Given the description of an element on the screen output the (x, y) to click on. 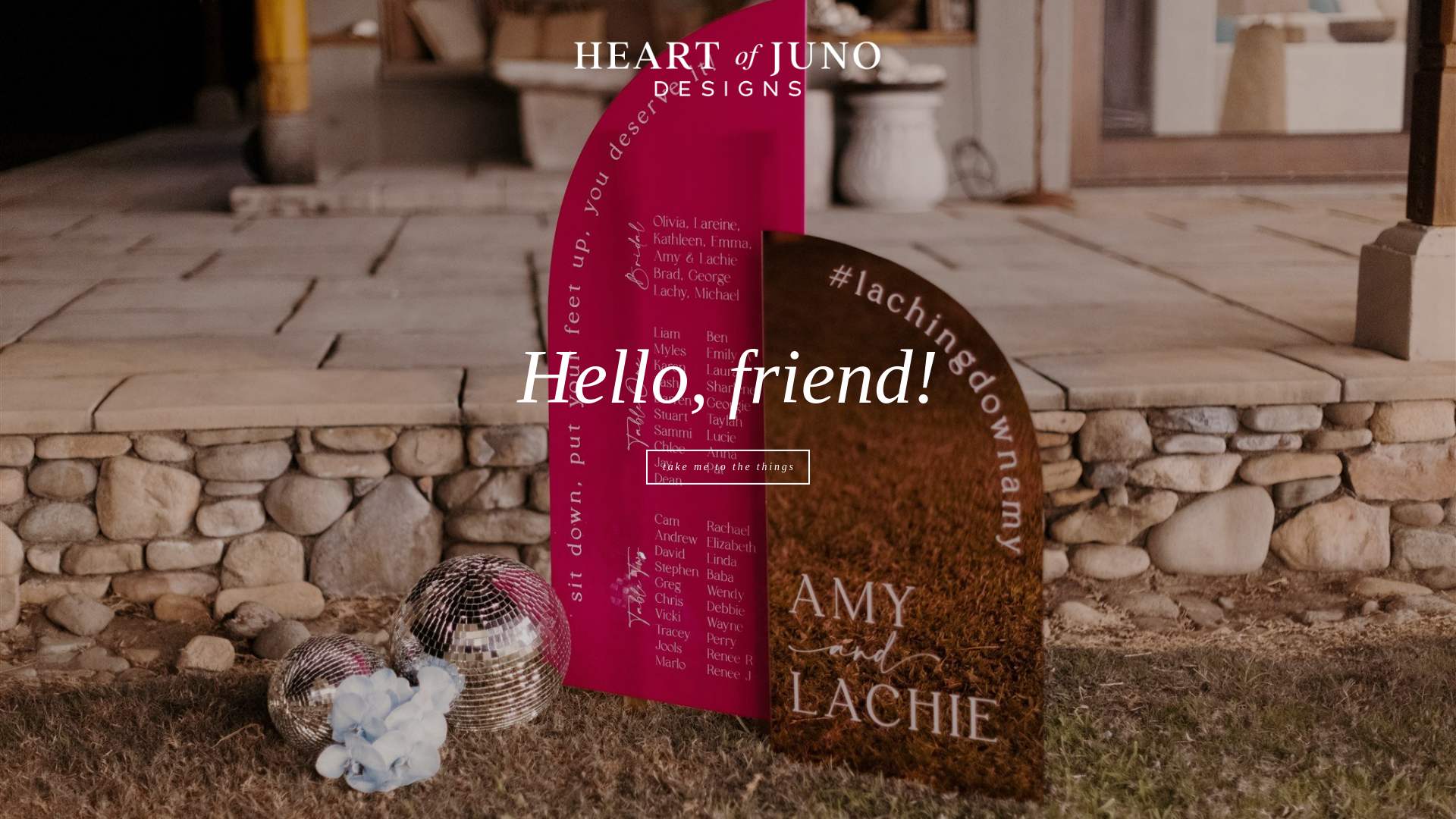
take me to the things Element type: text (727, 466)
